Given the description of an element on the screen output the (x, y) to click on. 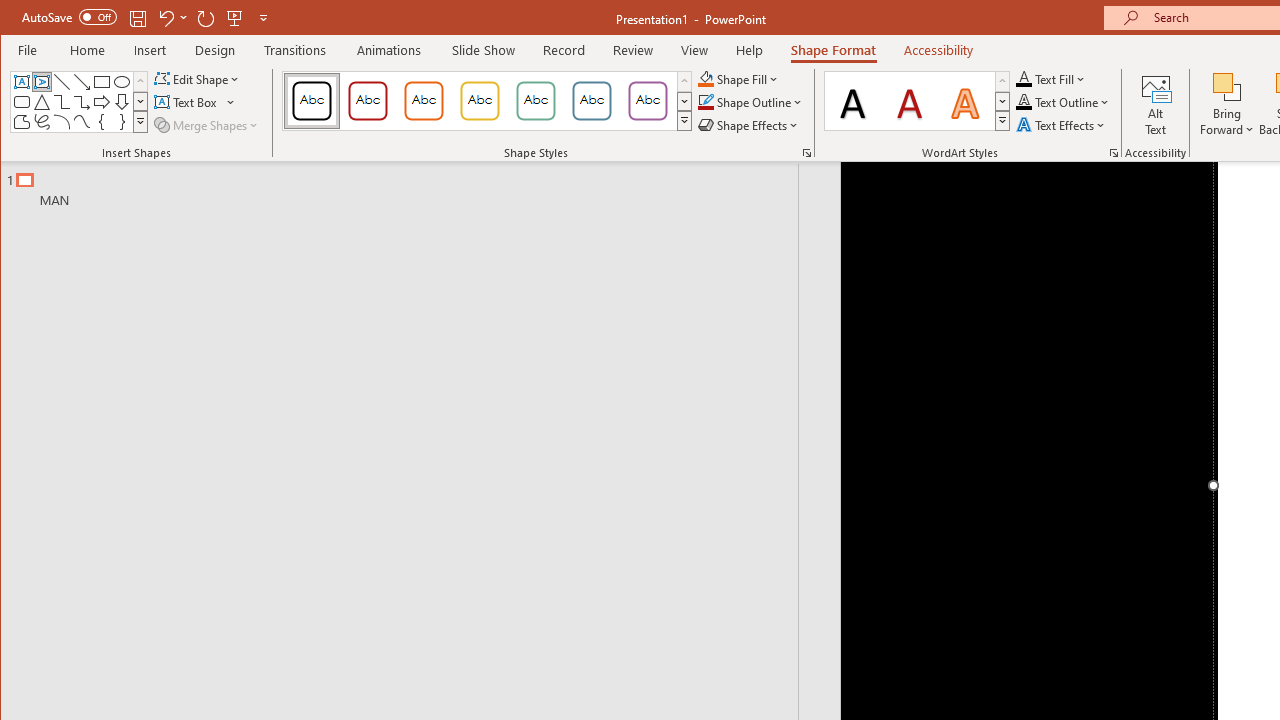
Colored Outline - Blue-Gray, Accent 5 (591, 100)
Text Fill RGB(0, 0, 0) (1023, 78)
